Given the description of an element on the screen output the (x, y) to click on. 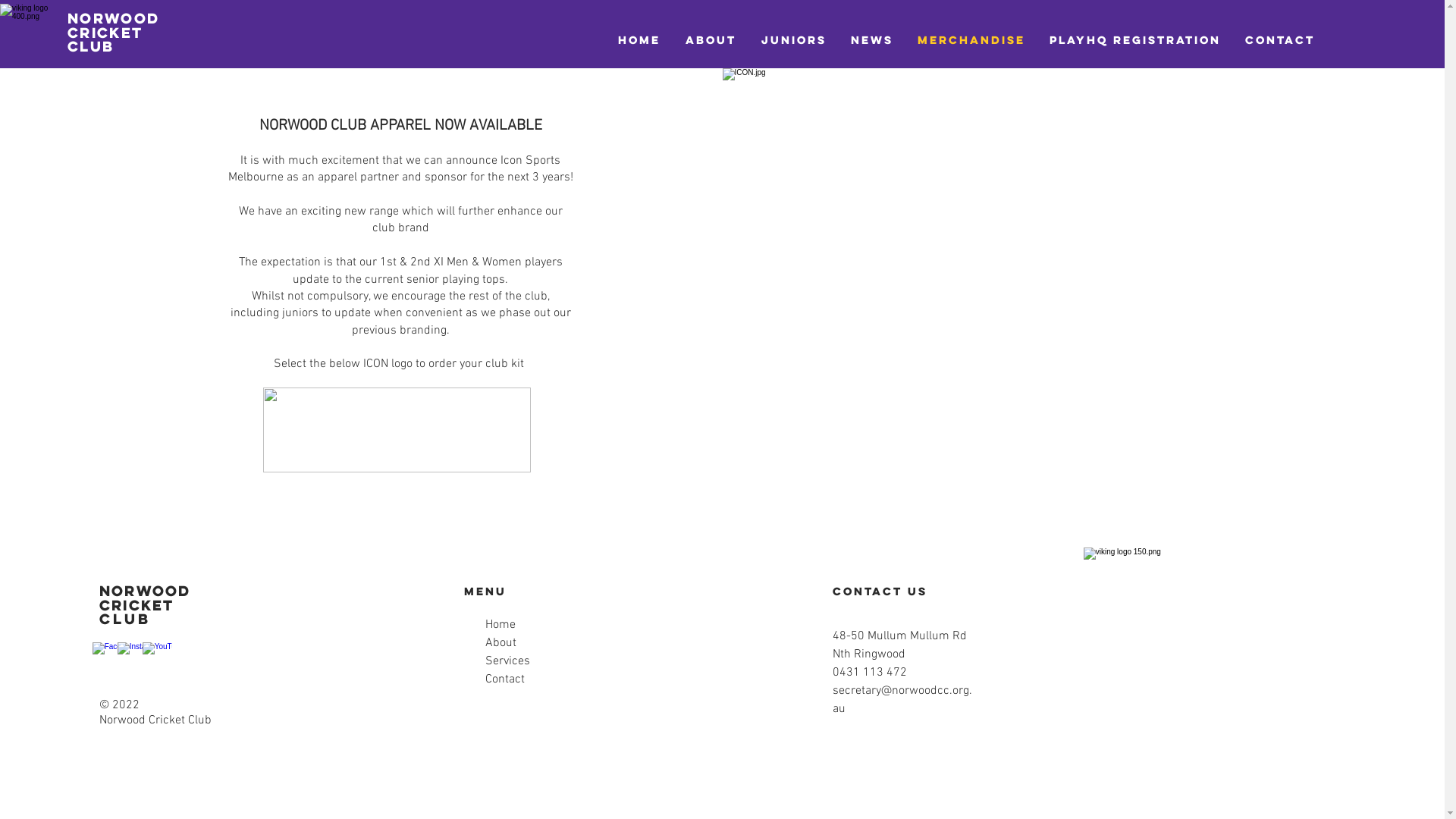
PlayHQ Registration Element type: text (1135, 40)
Merchandise Element type: text (971, 40)
Norwood
Cricket Element type: text (145, 597)
Juniors Element type: text (793, 40)
Norwood
Cricket 
Club Element type: text (113, 32)
ABOUT Element type: text (710, 40)
About Element type: text (500, 642)
Services Element type: text (507, 660)
Contact Element type: text (504, 679)
Icon.PNG Element type: hover (396, 429)
HOME Element type: text (638, 40)
Home Element type: text (500, 624)
CONTACT Element type: text (1280, 40)
secretary@norwoodcc.org.au Element type: text (902, 699)
News Element type: text (871, 40)
